Given the description of an element on the screen output the (x, y) to click on. 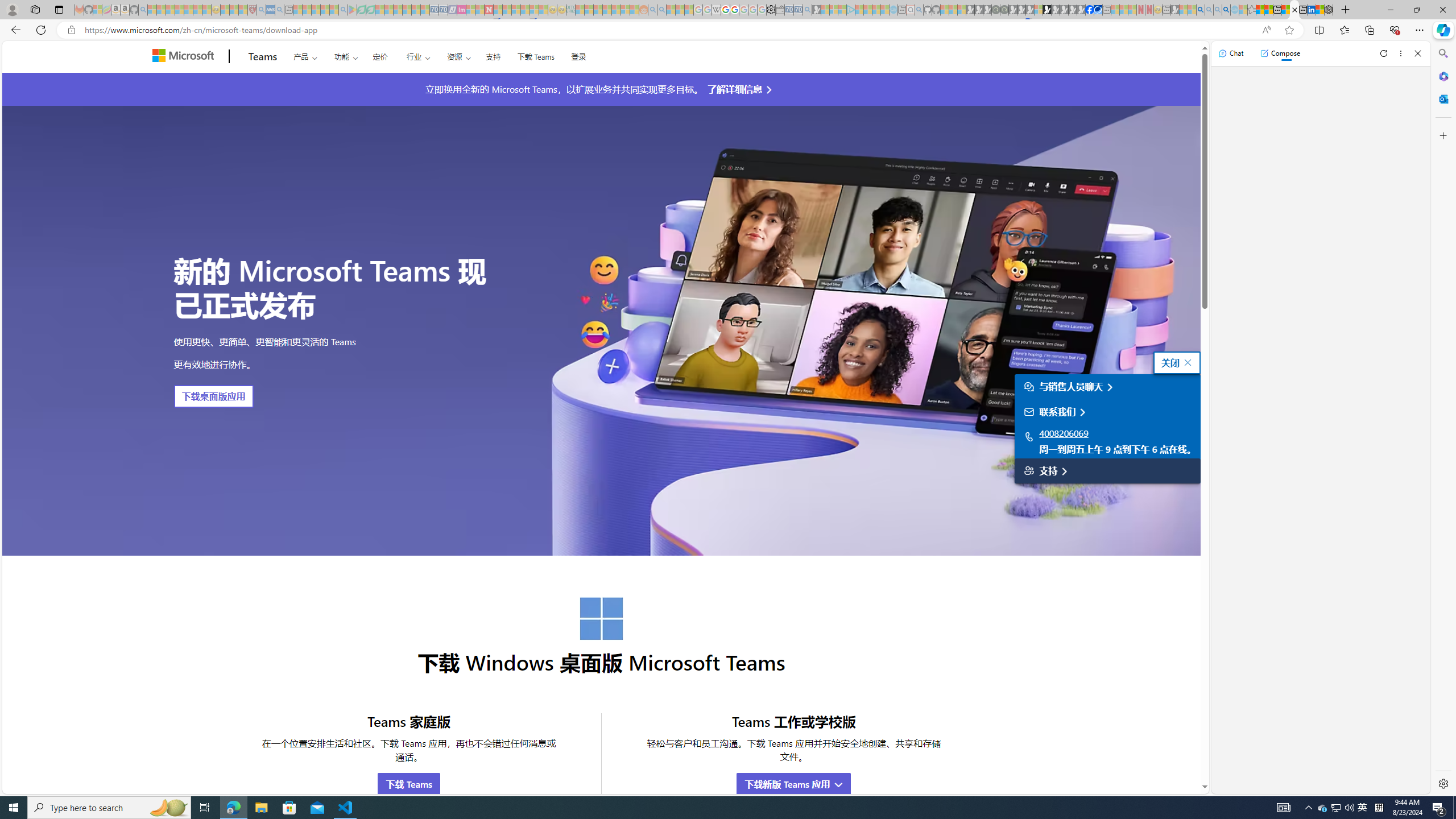
Bing AI - Search (1200, 9)
